Given the description of an element on the screen output the (x, y) to click on. 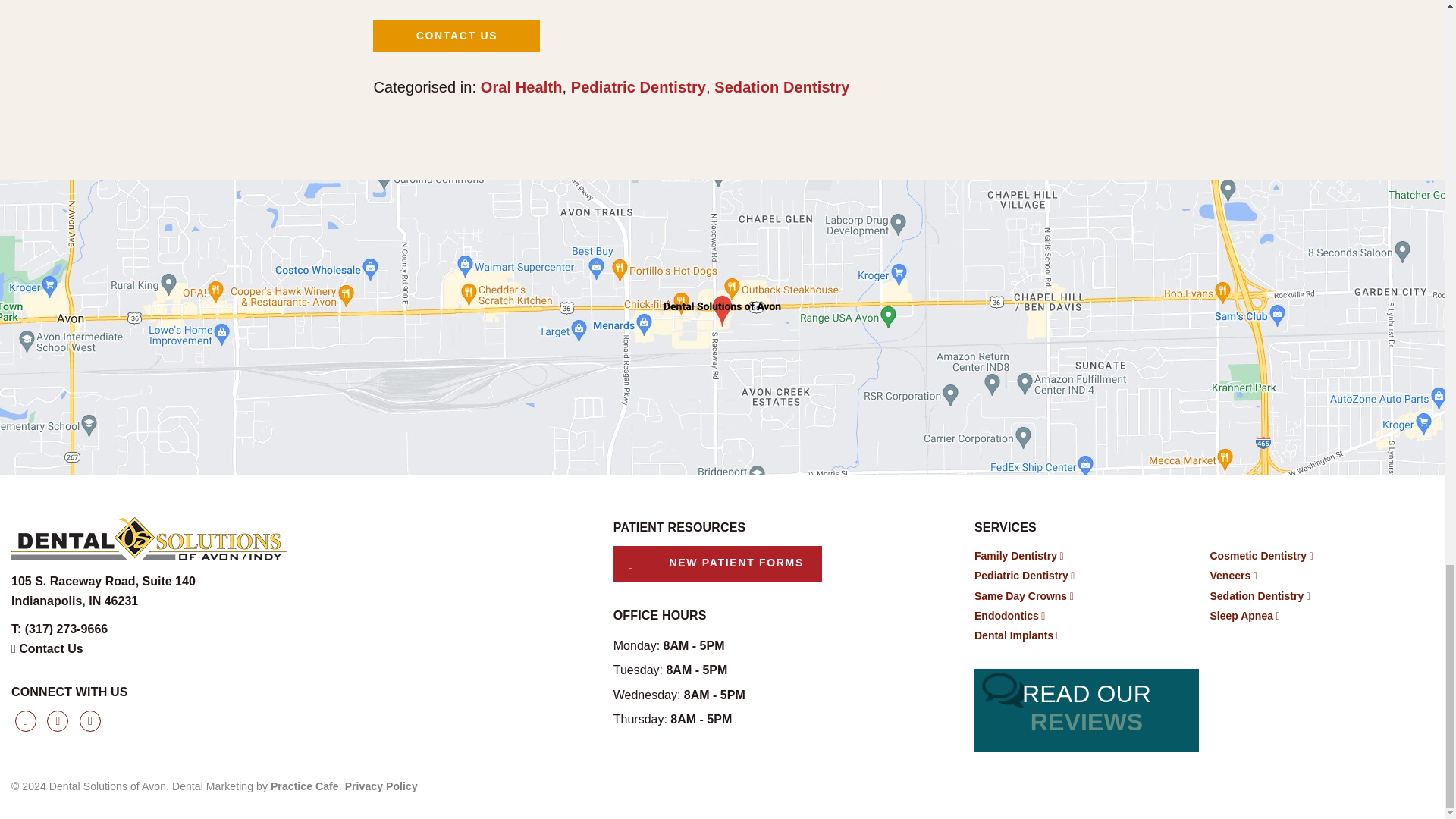
Sedation Dentistry (781, 87)
Oral Health (103, 590)
Pediatric Dentistry (521, 87)
Contact Us (638, 87)
CONTACT US (46, 648)
